Given the description of an element on the screen output the (x, y) to click on. 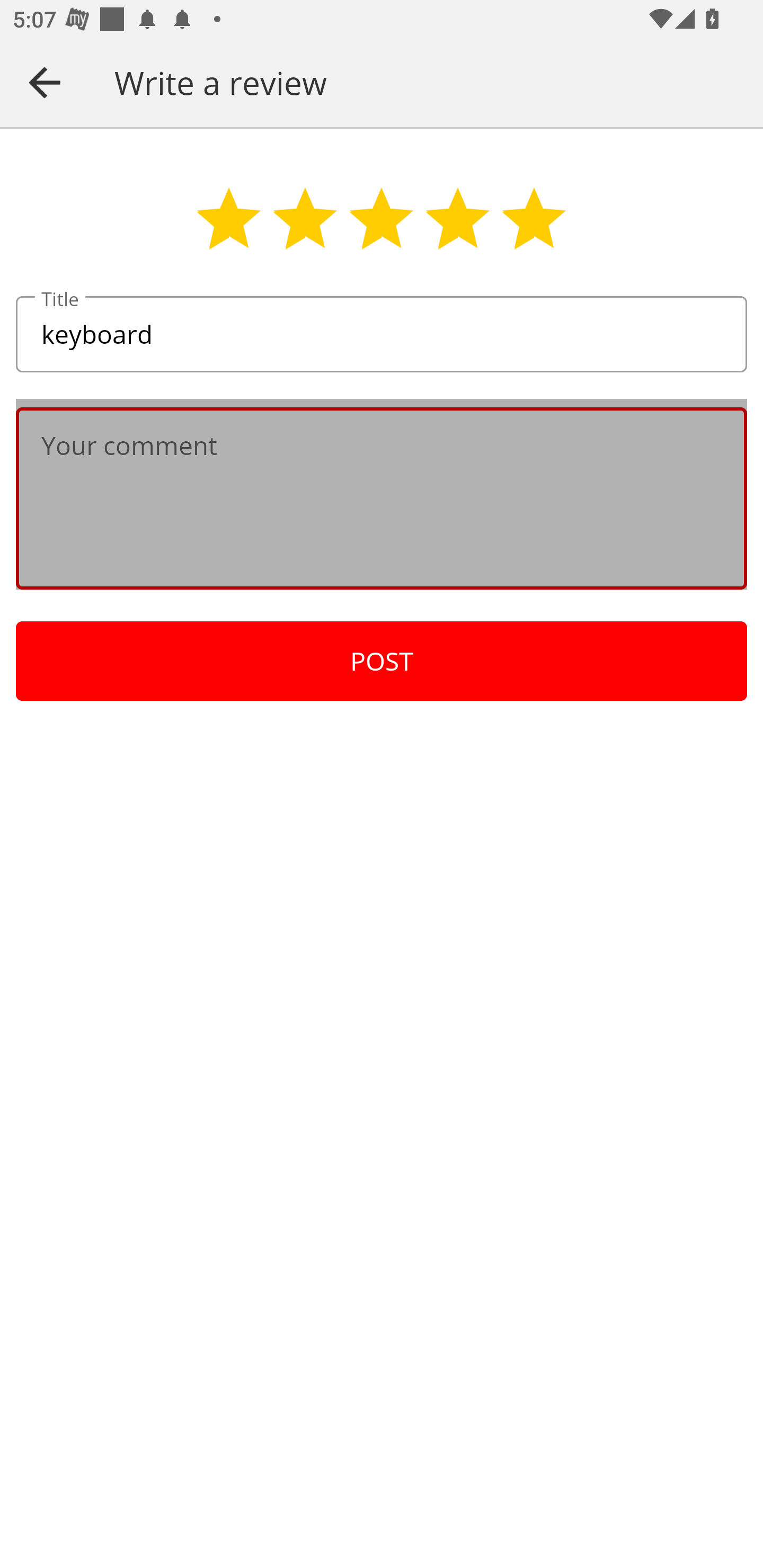
Navigate up (44, 82)
keyboard (381, 334)
Your comment (381, 498)
POST (381, 660)
